Given the description of an element on the screen output the (x, y) to click on. 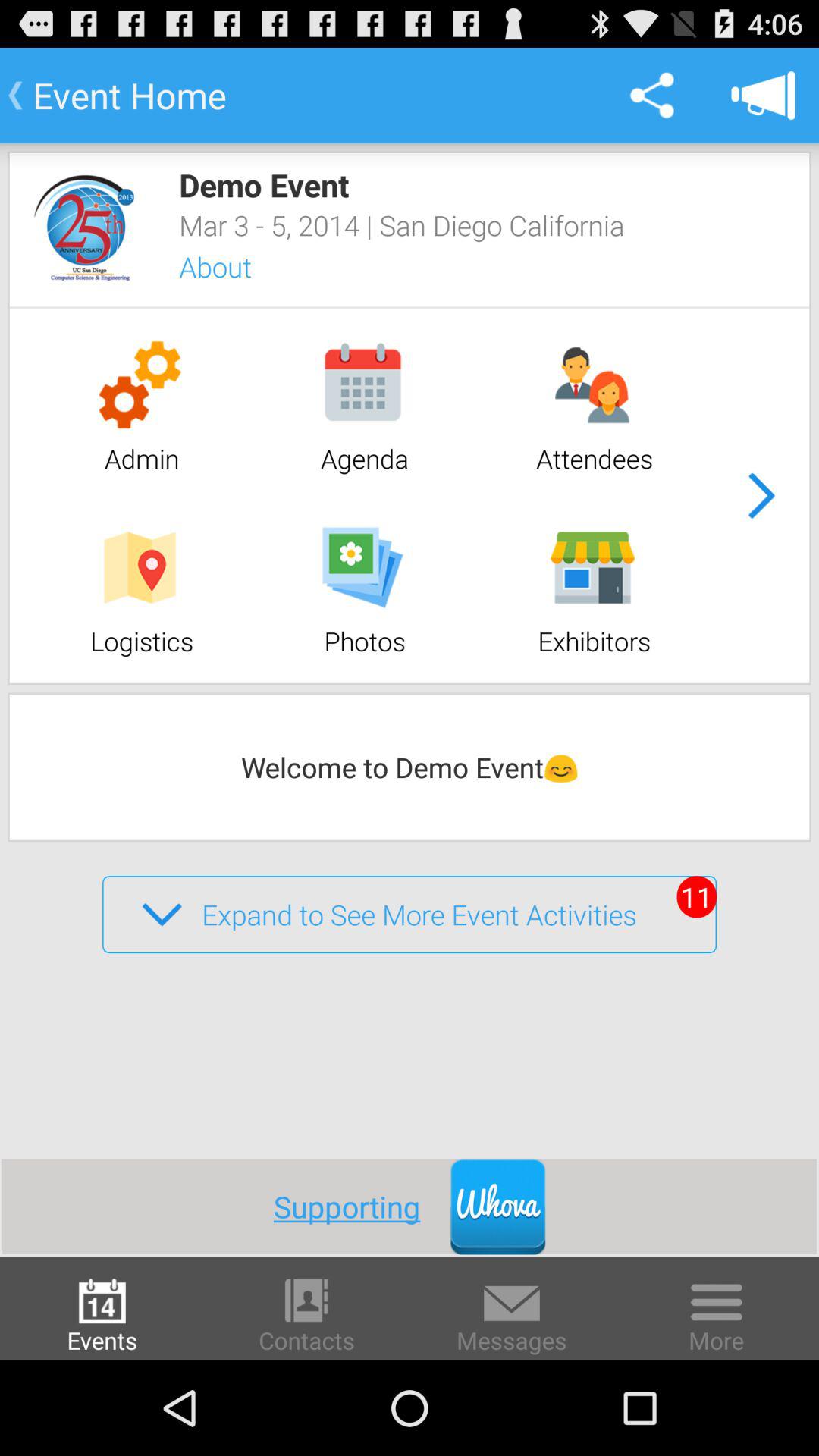
event logo image (84, 227)
